Given the description of an element on the screen output the (x, y) to click on. 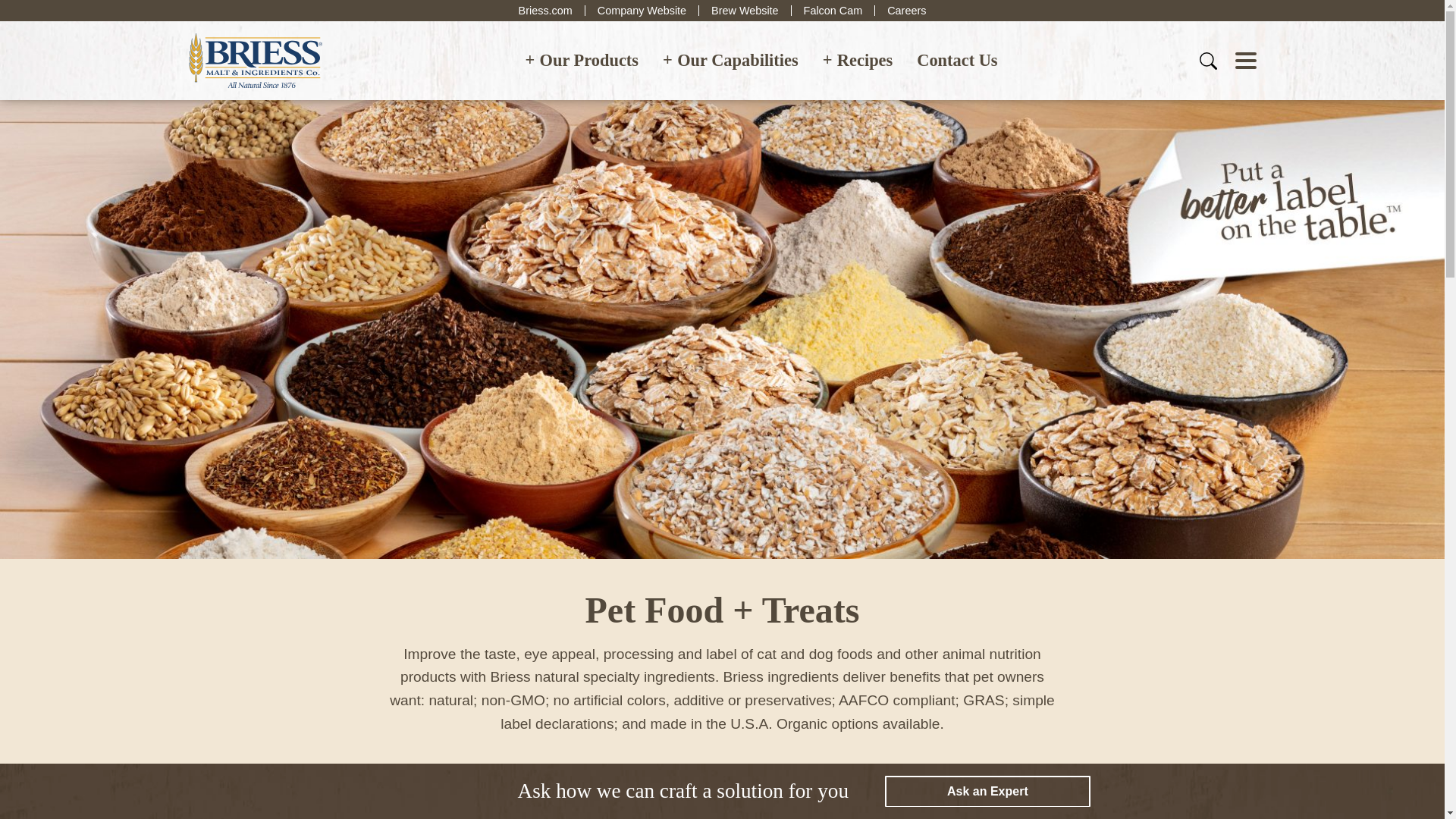
Our Products (581, 60)
Our Capabilities (730, 60)
Recipes (857, 60)
Falcon Cam (833, 9)
Briess.com (545, 9)
Careers (906, 9)
Company Website (640, 9)
Contact Us (956, 60)
Brew Website (744, 9)
